Given the description of an element on the screen output the (x, y) to click on. 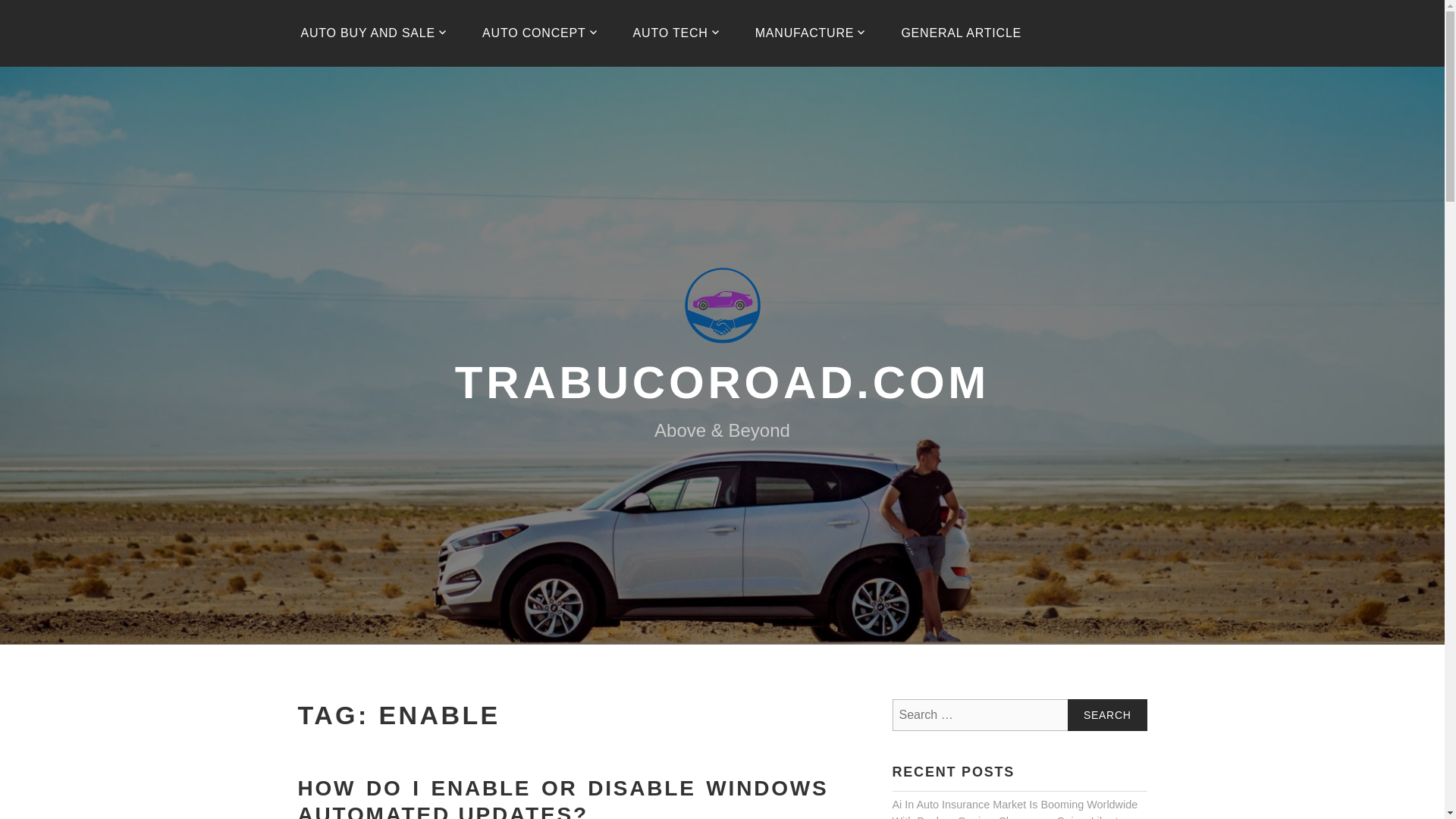
AUTO CONCEPT (539, 33)
AUTO TECH (676, 33)
HOW DO I ENABLE OR DISABLE WINDOWS AUTOMATED UPDATES? (562, 797)
MANUFACTURE (810, 33)
TRABUCOROAD.COM (722, 381)
AUTO BUY AND SALE (374, 33)
Search (1107, 715)
Search (1107, 715)
GENERAL ARTICLE (960, 33)
